Given the description of an element on the screen output the (x, y) to click on. 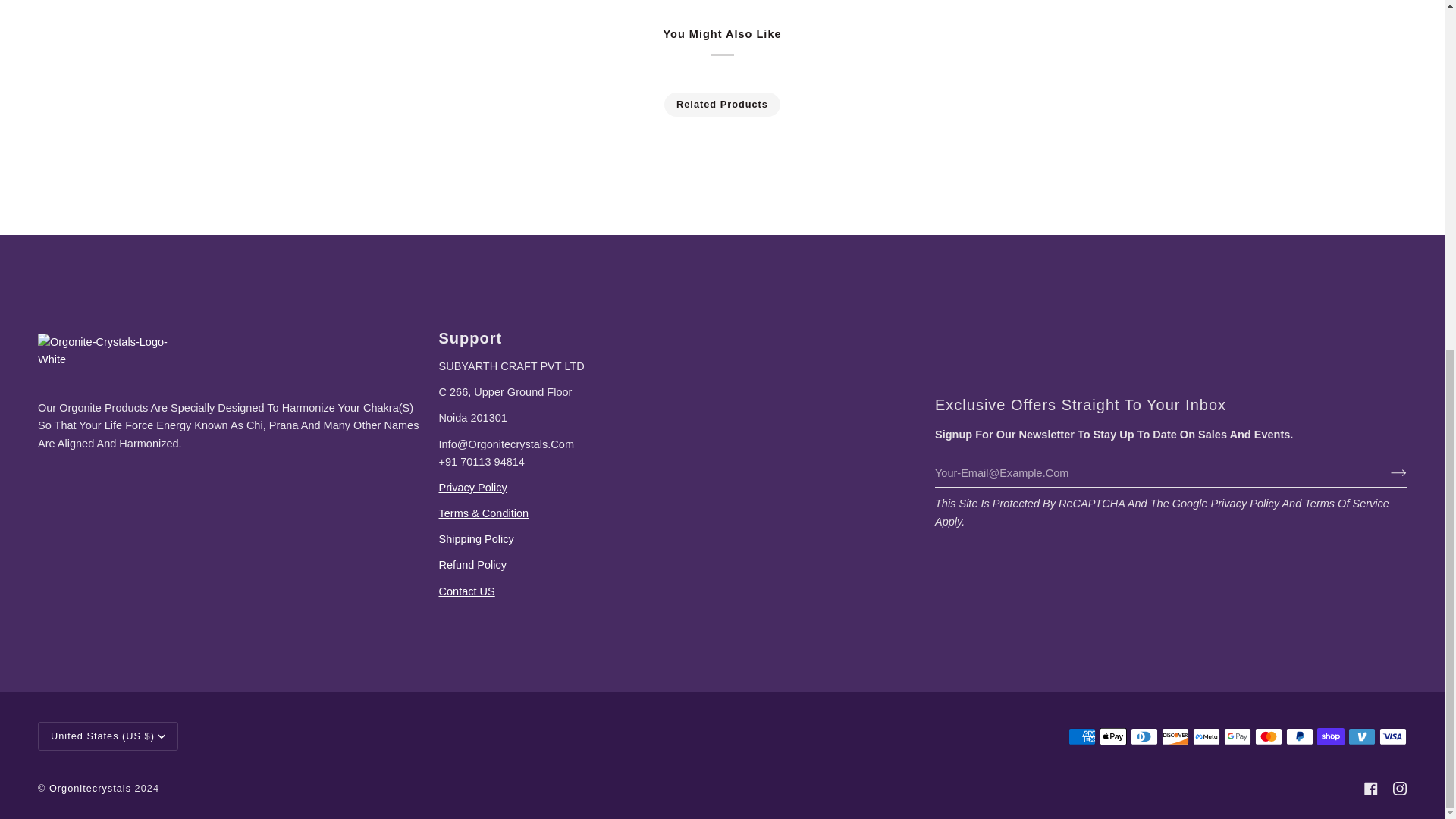
Venmo (1361, 735)
PayPal (1299, 735)
Visa (1392, 735)
Terms of Service (483, 512)
Related Products (722, 104)
American Express (1082, 735)
Privacy Policy (472, 487)
Shipping Policy (475, 539)
Discover (1175, 735)
Facebook (1370, 788)
Google Pay (1237, 735)
Contact Information (466, 591)
Instagram (1399, 788)
Refund Policy (472, 564)
Diners Club (1144, 735)
